Given the description of an element on the screen output the (x, y) to click on. 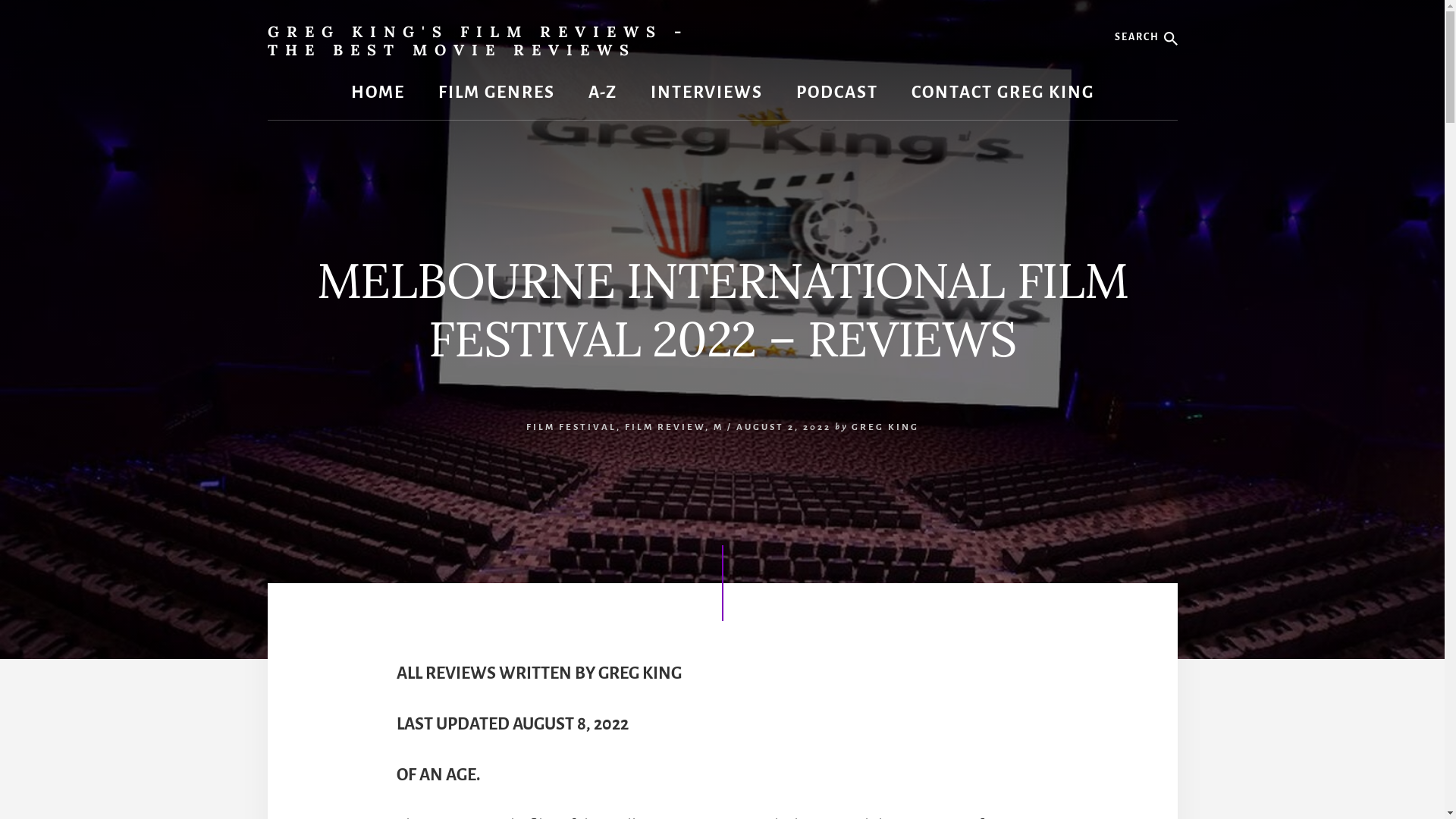
INTERVIEWS Element type: text (706, 92)
FILM REVIEW Element type: text (664, 427)
FILM FESTIVAL Element type: text (571, 427)
PODCAST Element type: text (837, 92)
Skip to content Element type: text (0, 0)
GREG KING'S FILM REVIEWS - THE BEST MOVIE REVIEWS Element type: text (476, 40)
Search Element type: text (1176, 14)
HOME Element type: text (377, 92)
M Element type: text (717, 427)
CONTACT GREG KING Element type: text (1002, 92)
GREG KING Element type: text (884, 427)
A-Z Element type: text (602, 92)
FILM GENRES Element type: text (496, 92)
